Given the description of an element on the screen output the (x, y) to click on. 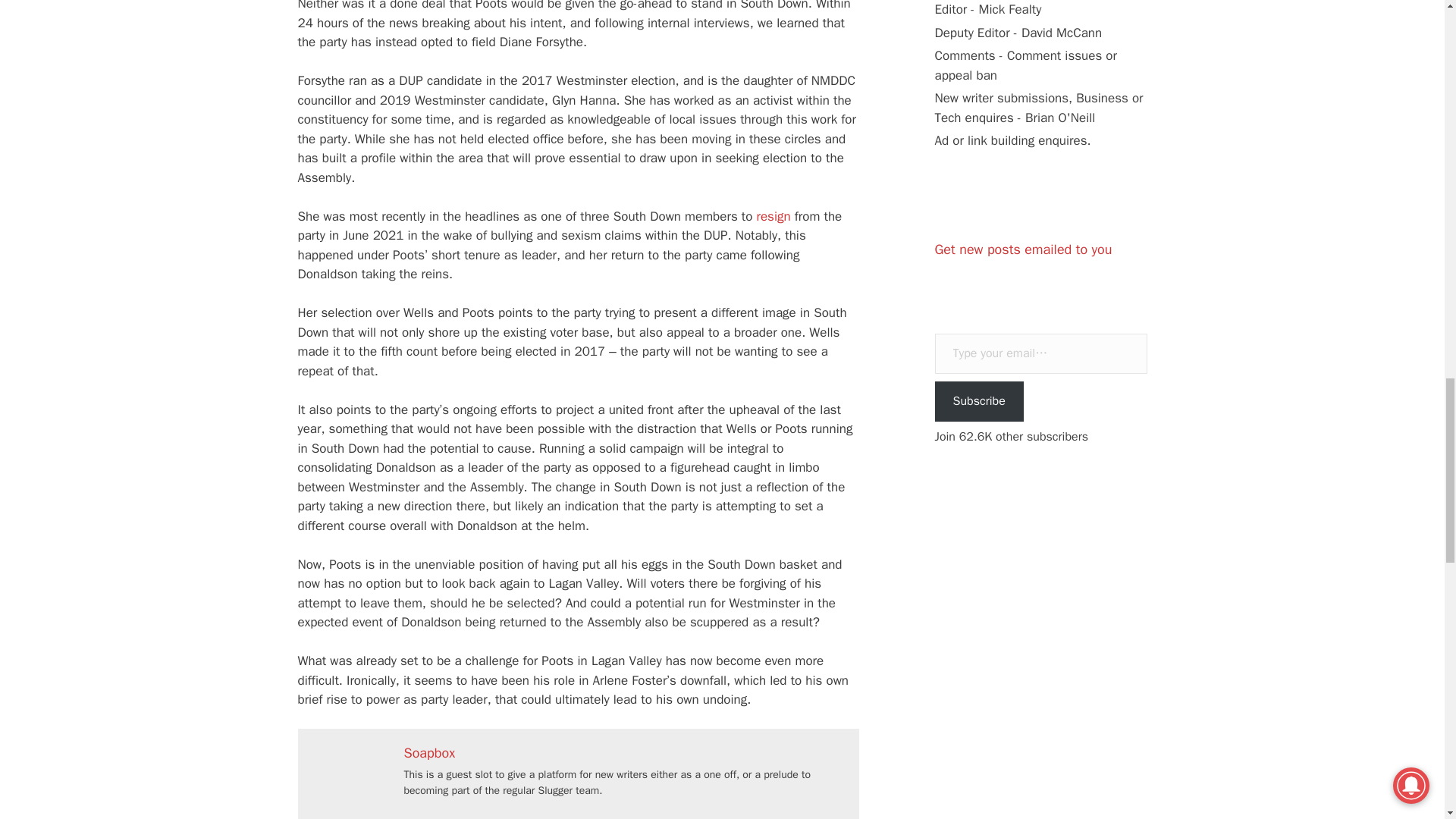
Please fill in this field. (1040, 353)
